Given the description of an element on the screen output the (x, y) to click on. 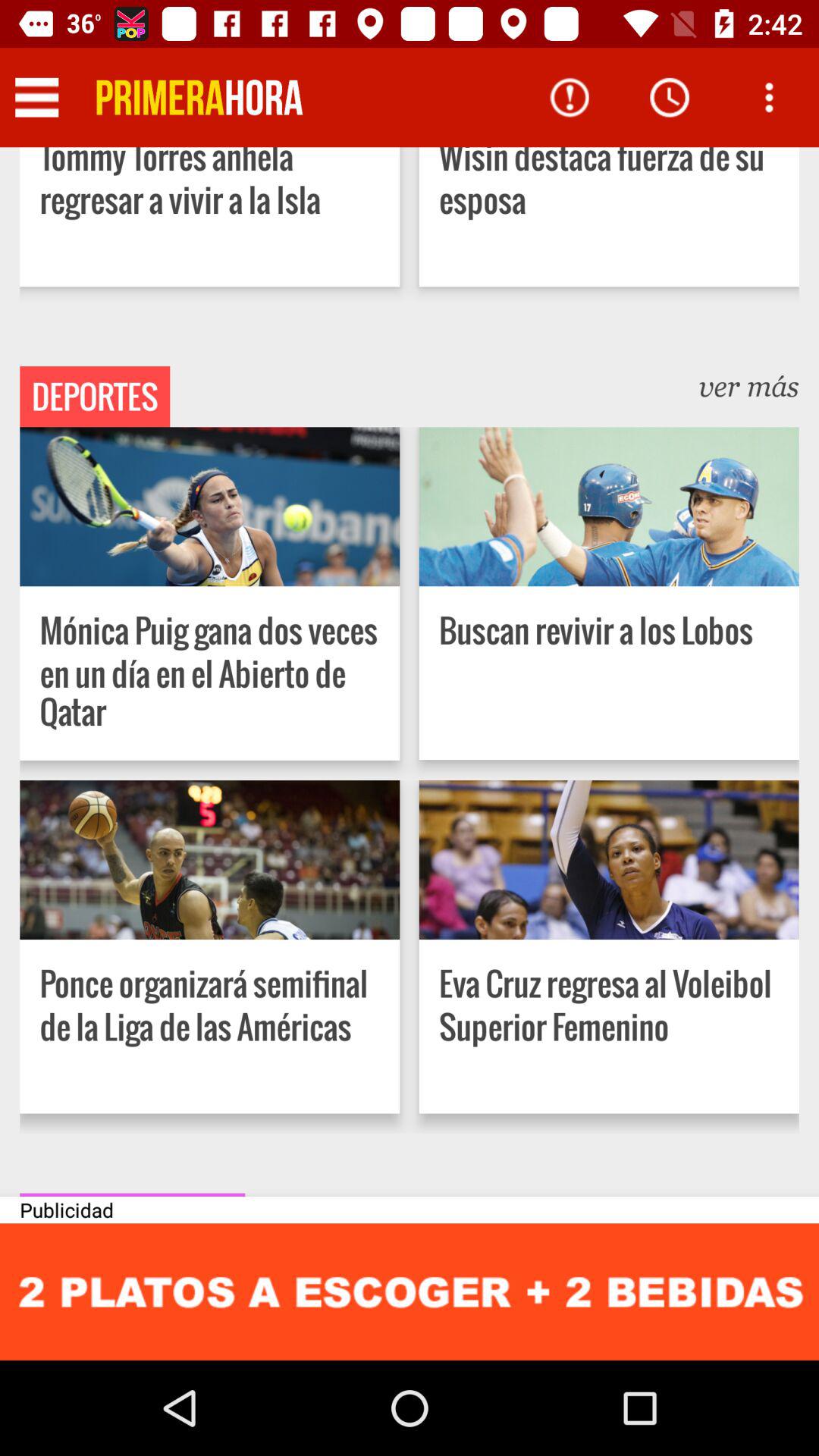
go back to the homepage (199, 97)
